Given the description of an element on the screen output the (x, y) to click on. 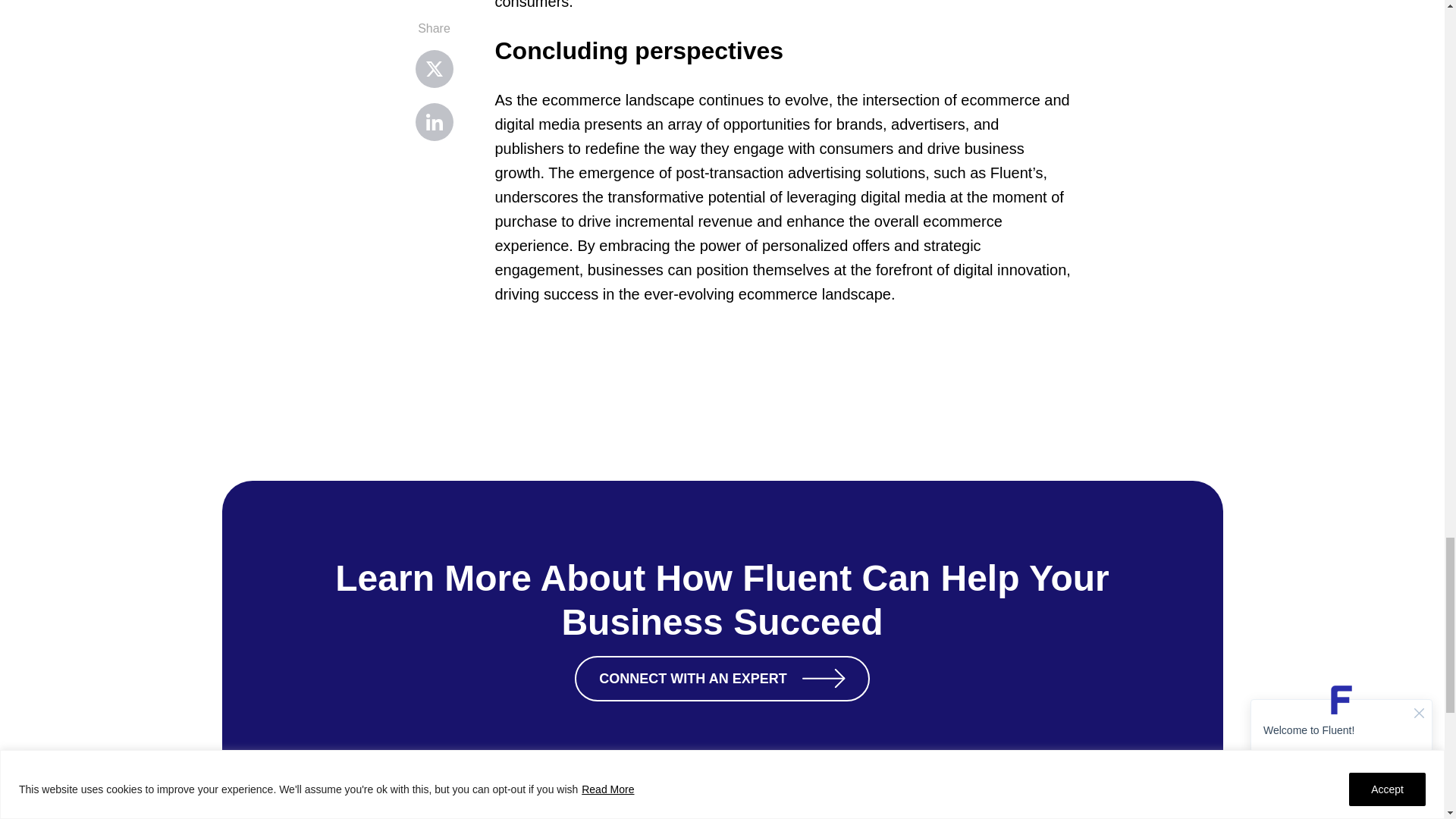
CONNECT WITH AN EXPERT (722, 678)
Fluent logo (309, 806)
Fluent logo (309, 812)
